Given the description of an element on the screen output the (x, y) to click on. 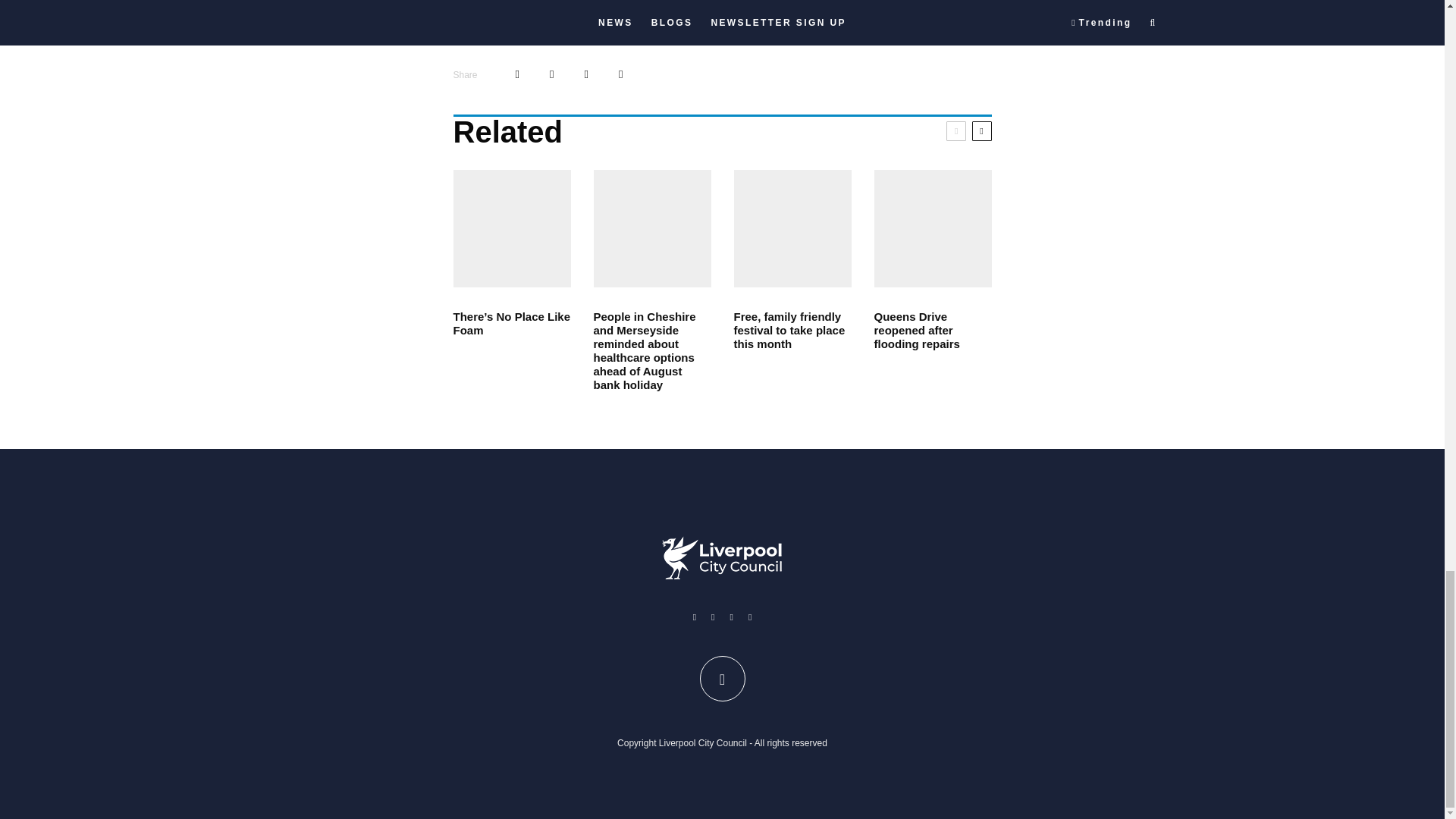
Queens Drive reopened after flooding repairs (932, 330)
Free, family friendly festival to take place this month (792, 330)
